Given the description of an element on the screen output the (x, y) to click on. 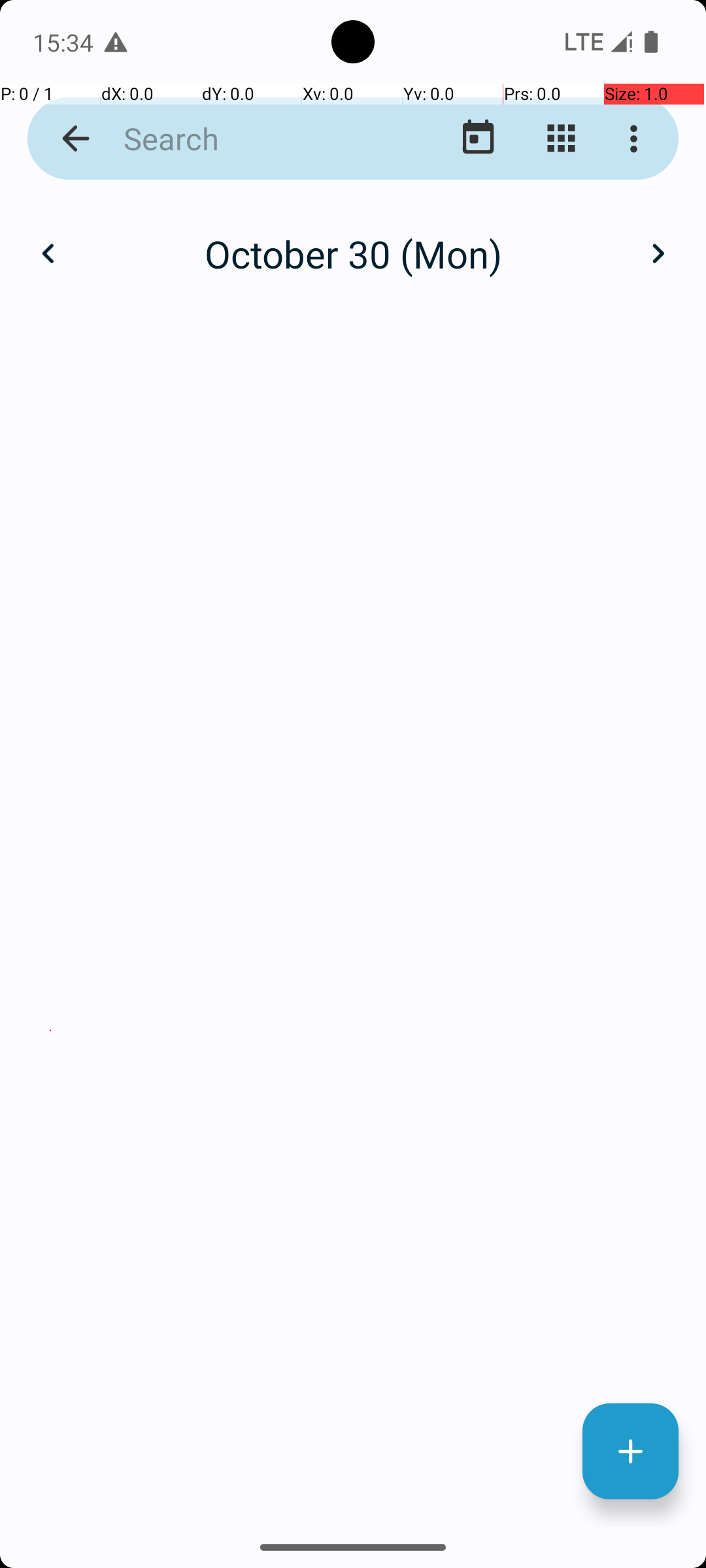
October 30 (Mon) Element type: android.widget.TextView (352, 253)
